Given the description of an element on the screen output the (x, y) to click on. 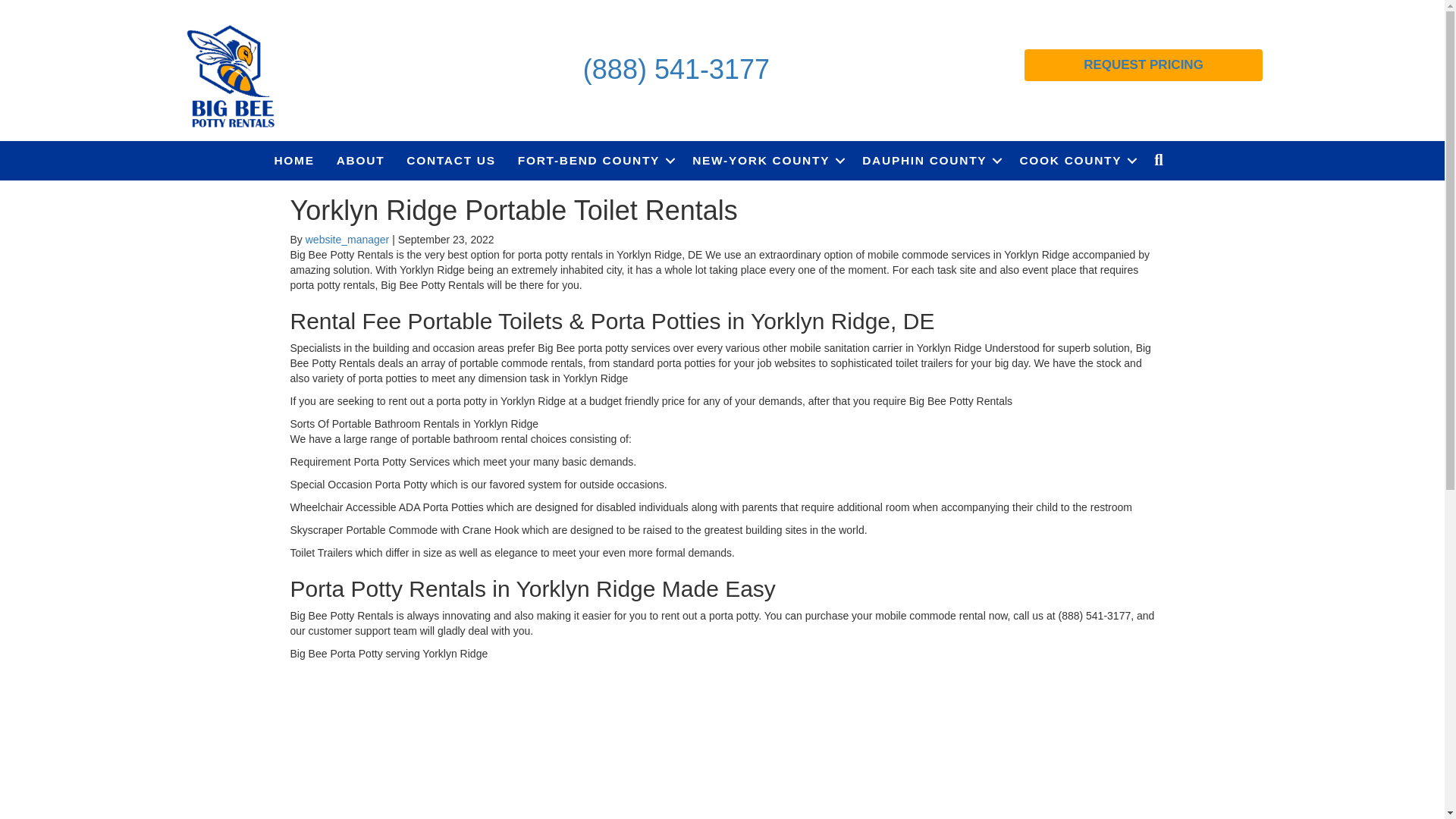
HOME (293, 160)
COOK COUNTY (1075, 160)
FORT-BEND COUNTY (593, 160)
REQUEST PRICING (1144, 65)
Skip to content (34, 6)
NEW-YORK COUNTY (765, 160)
DAUPHIN COUNTY (929, 160)
CONTACT US (450, 160)
ABOUT (361, 160)
